Given the description of an element on the screen output the (x, y) to click on. 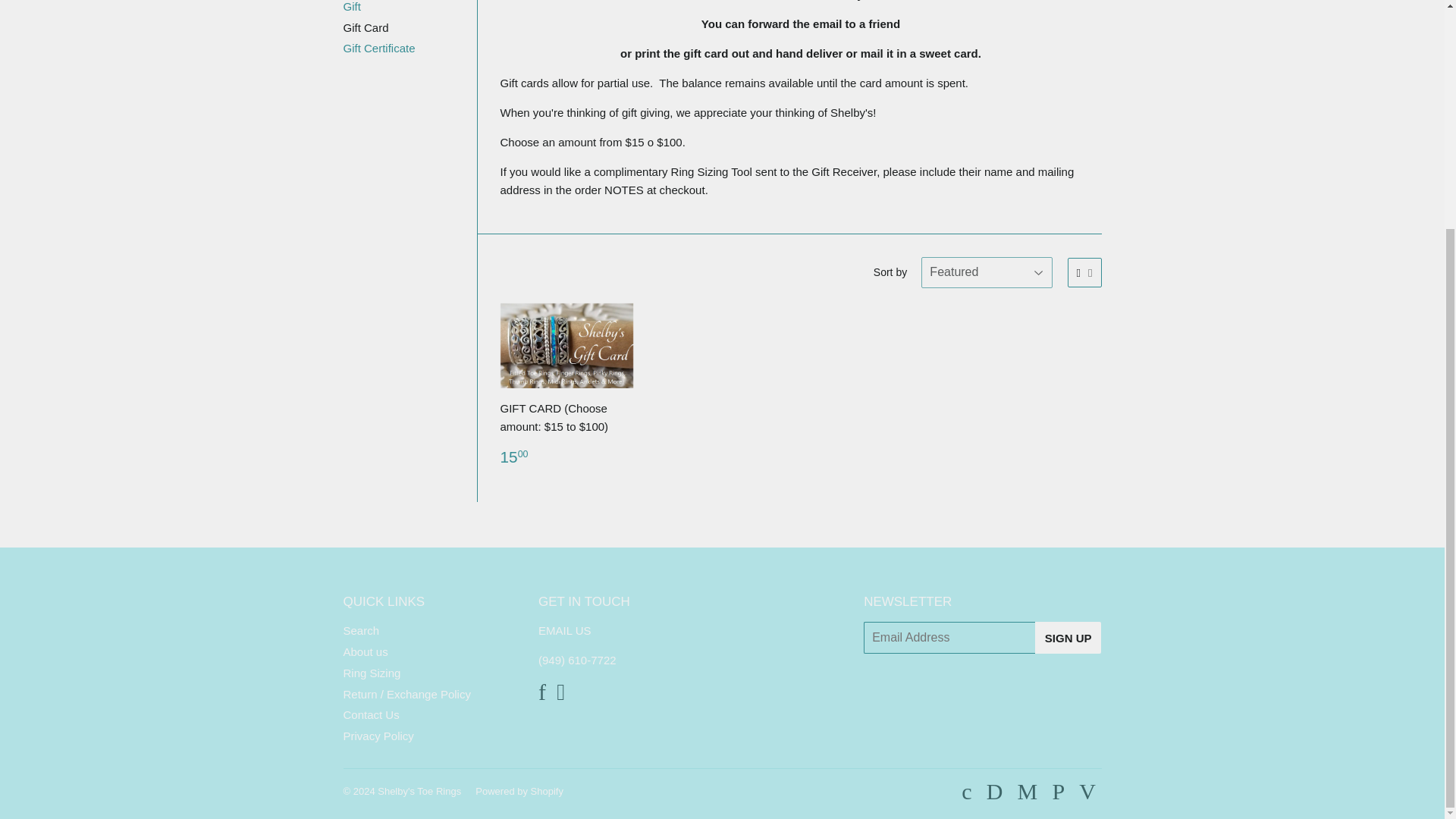
Privacy Policy (377, 735)
About us (364, 651)
SIGN UP (1068, 637)
EMAIL US (564, 630)
Gift (350, 6)
Gift Certificate (378, 47)
Ring Sizing (371, 672)
Search (360, 630)
Contact Us (370, 714)
Show products matching tag Gift Certificate (378, 47)
Show products matching tag Gift (350, 6)
